Given the description of an element on the screen output the (x, y) to click on. 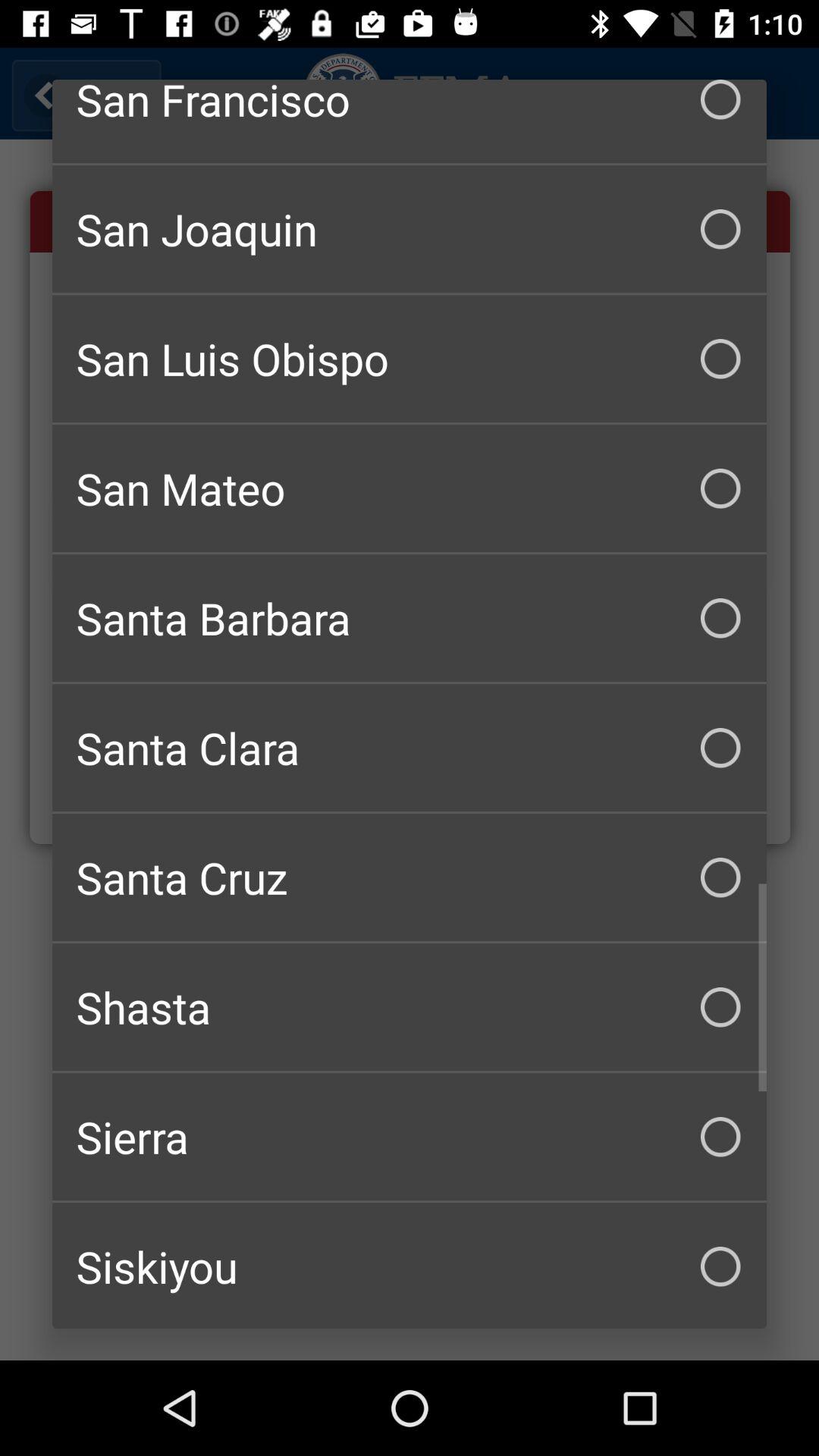
press the icon above san luis obispo (409, 228)
